Given the description of an element on the screen output the (x, y) to click on. 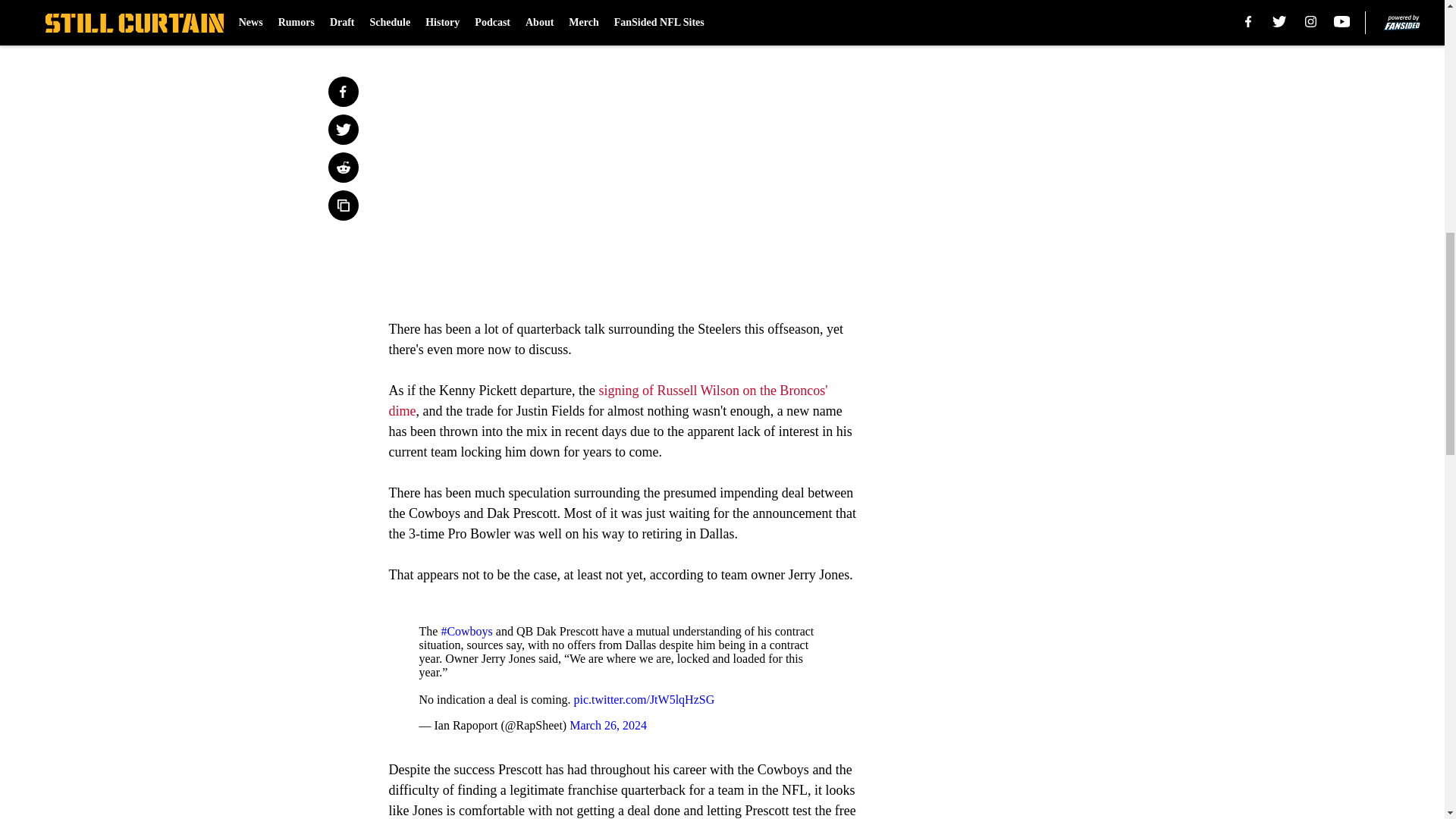
March 26, 2024 (607, 725)
signing of Russell Wilson on the Broncos' dime (607, 400)
